Given the description of an element on the screen output the (x, y) to click on. 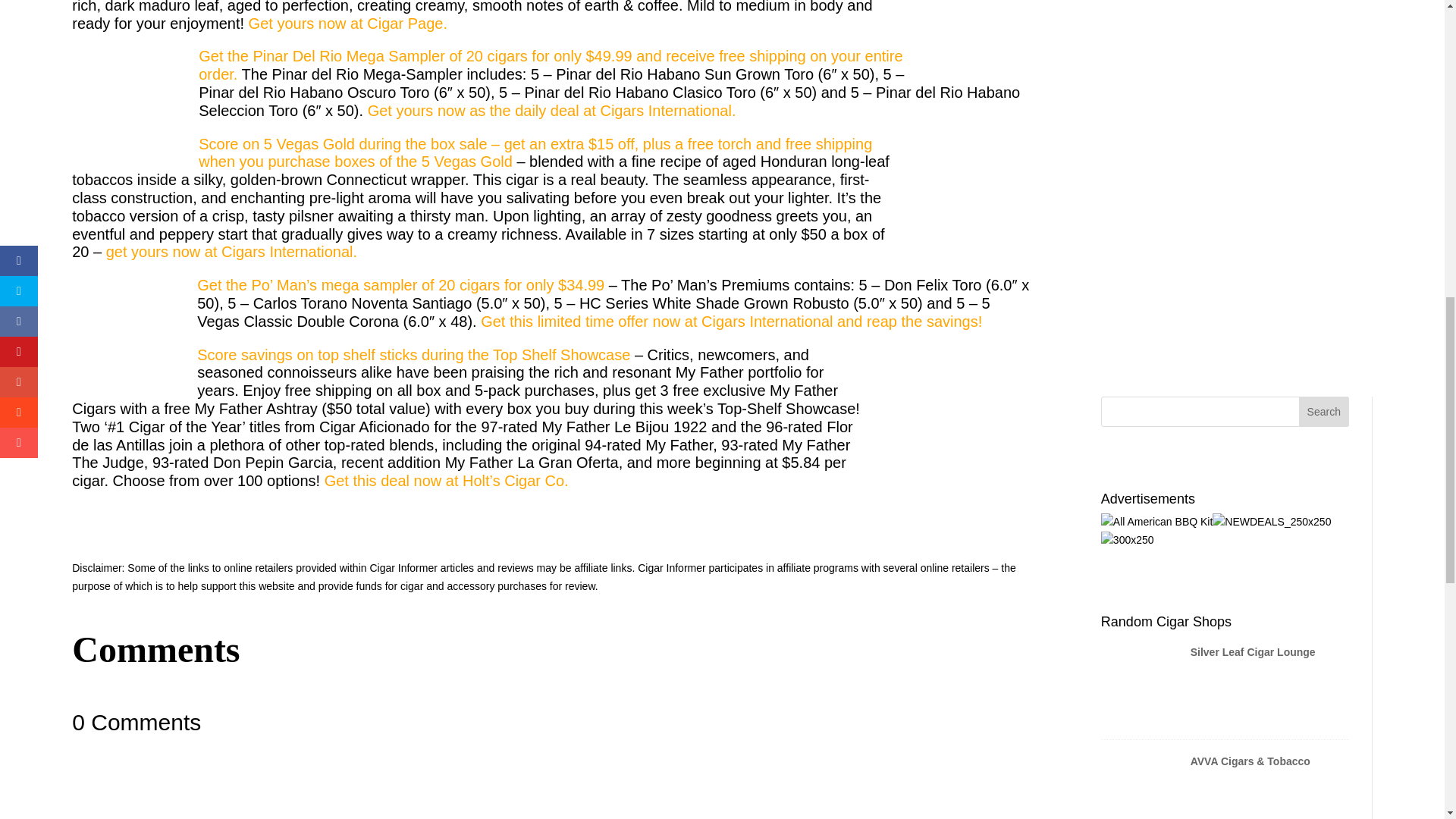
Get yours now at Cigar Page.  (349, 23)
Search (1323, 411)
300x250 (1127, 540)
All American BBQ Kit (1156, 522)
